Given the description of an element on the screen output the (x, y) to click on. 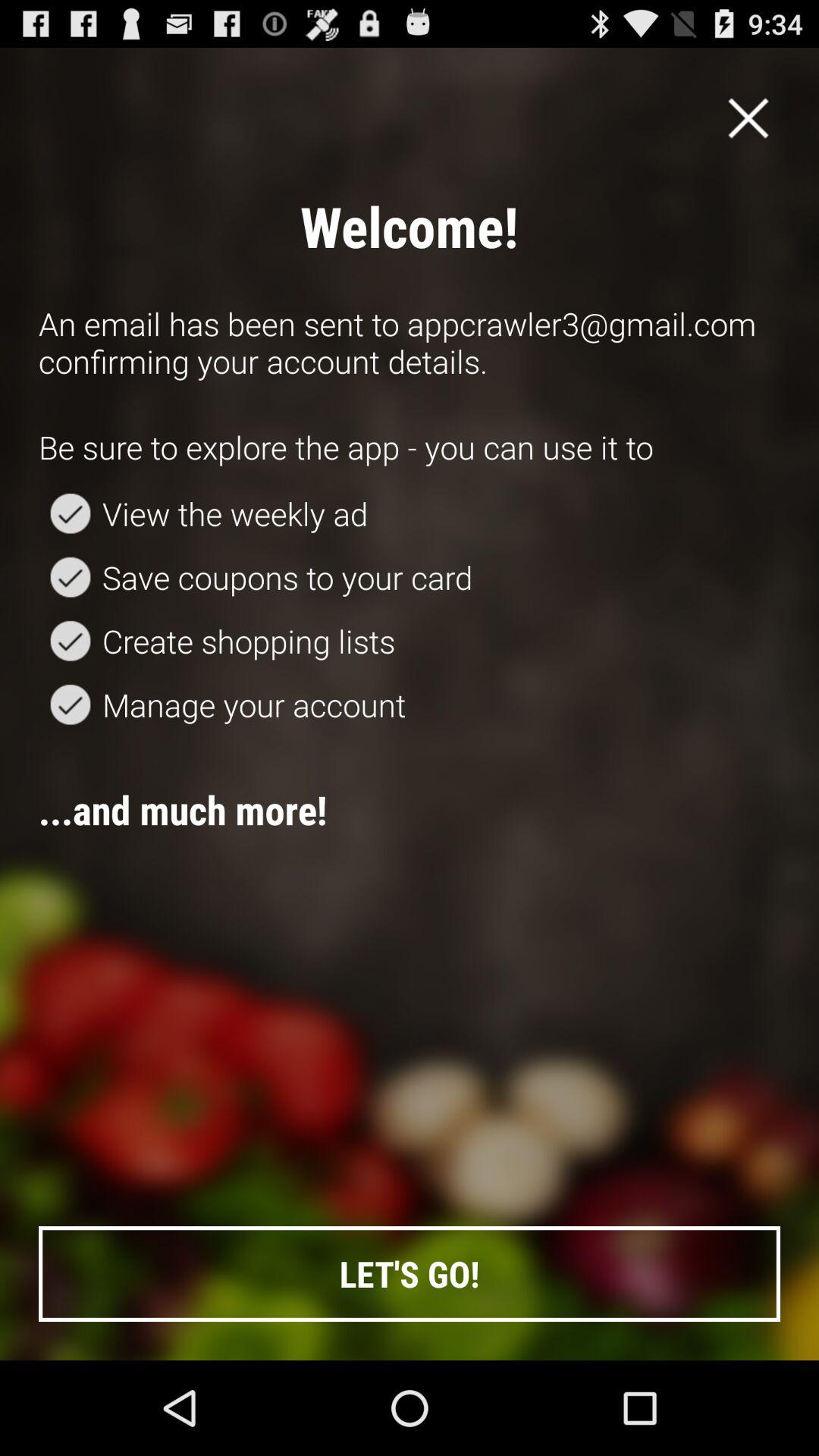
go close (748, 118)
